Given the description of an element on the screen output the (x, y) to click on. 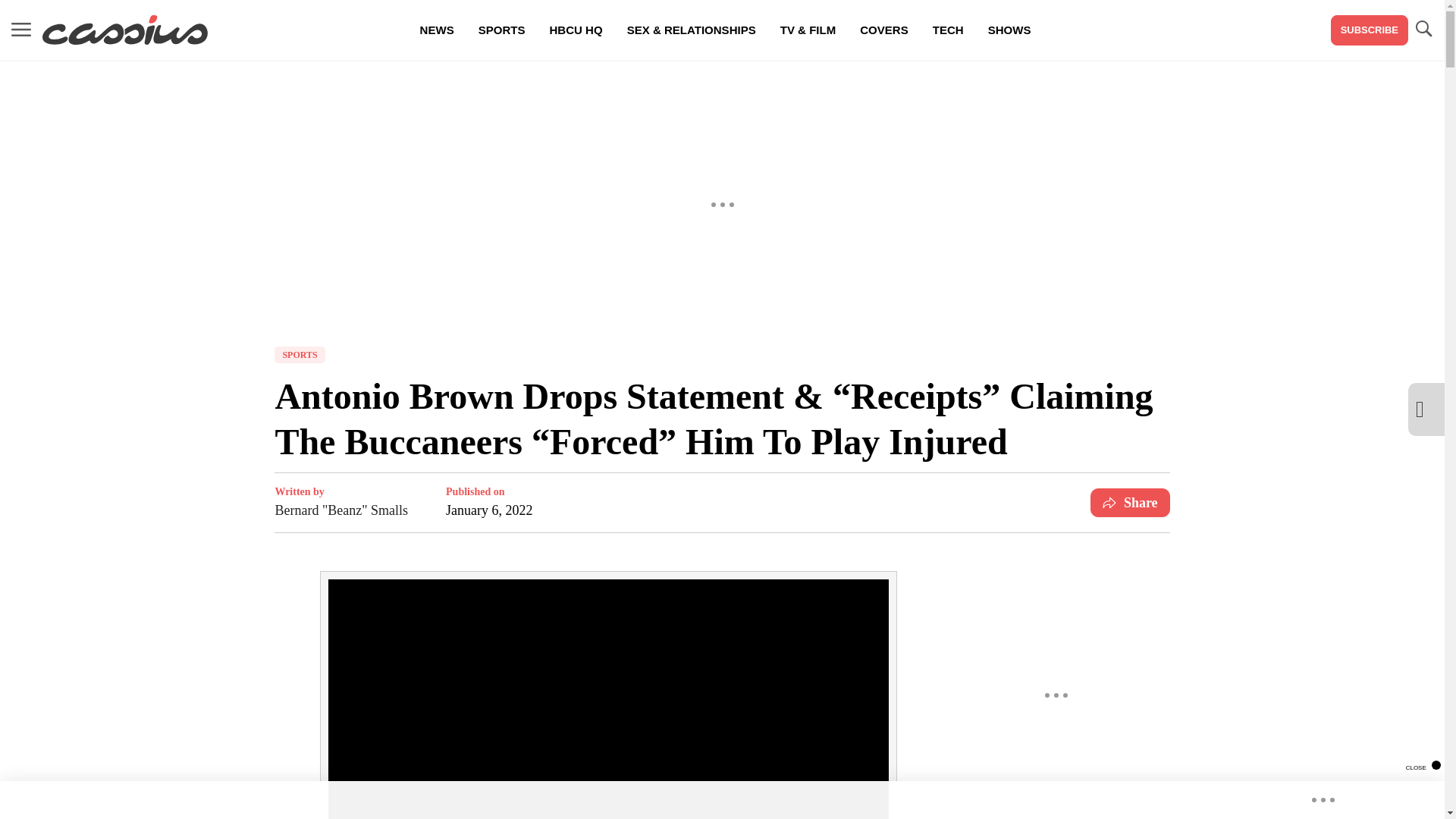
Share (1130, 502)
TOGGLE SEARCH (1422, 28)
HBCU HQ (575, 30)
MENU (20, 30)
TECH (947, 30)
COVERS (883, 30)
SUBSCRIBE (1368, 30)
Bernard "Beanz" Smalls (341, 509)
SPORTS (501, 30)
SHOWS (1009, 30)
